Given the description of an element on the screen output the (x, y) to click on. 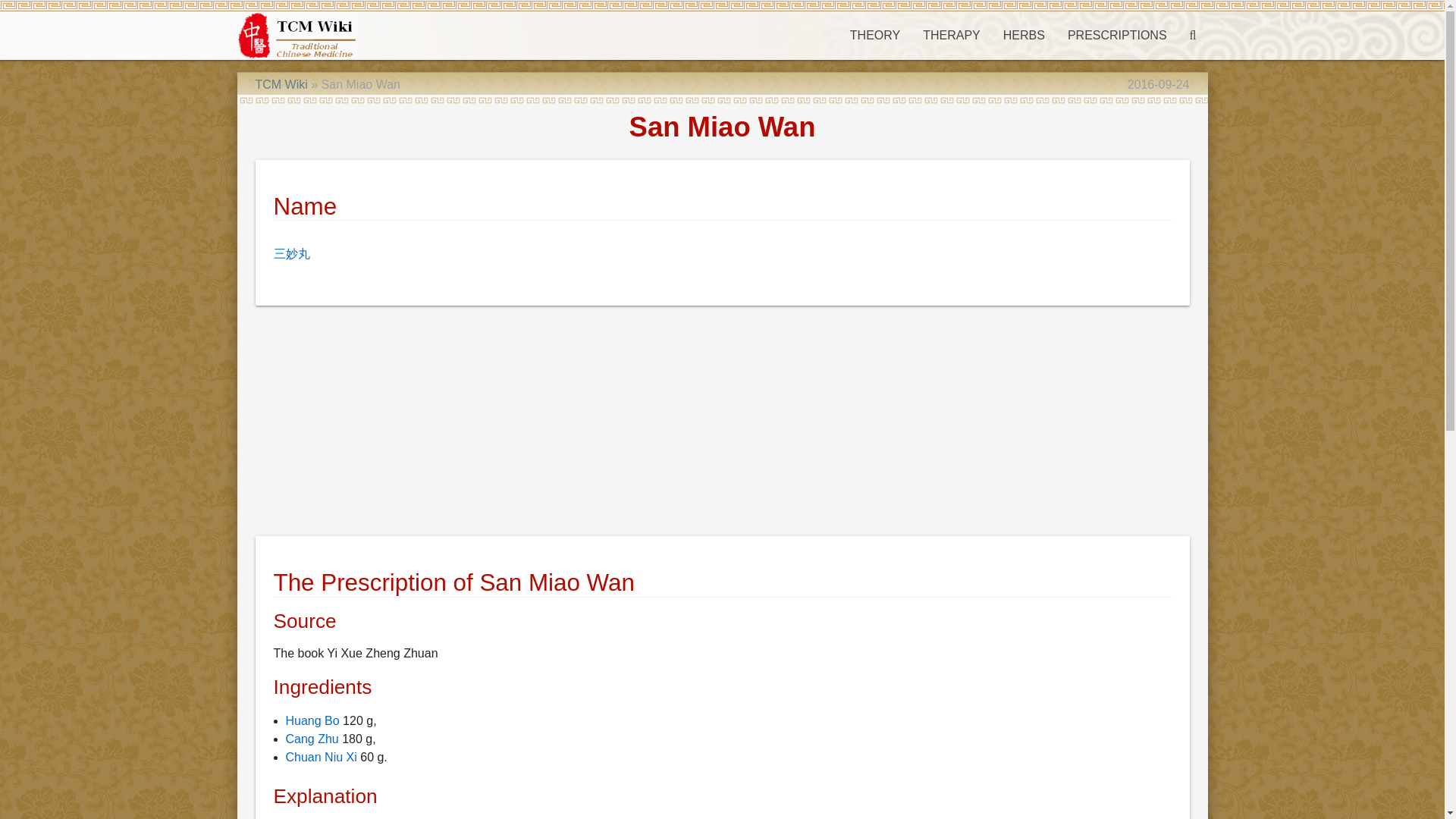
HERBS (1024, 35)
THEORY (874, 35)
Huang Bo (312, 720)
PRESCRIPTIONS (1117, 35)
Cang Zhu (311, 738)
TCM Wiki (280, 83)
Chuan Niu Xi (320, 757)
THERAPY (951, 35)
